Given the description of an element on the screen output the (x, y) to click on. 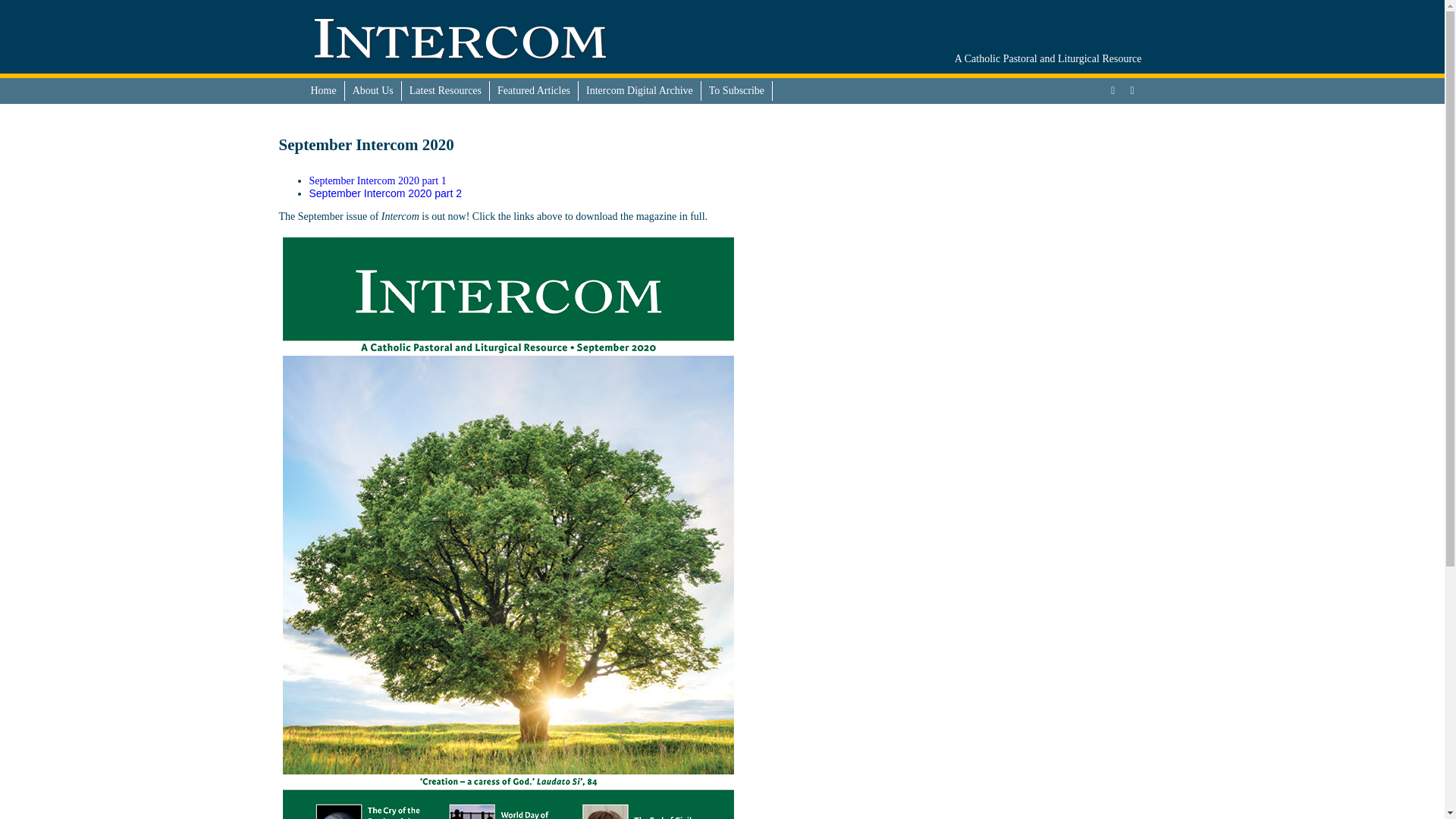
September Intercom 2020 part 1 (377, 180)
Featured Articles (533, 90)
To Subscribe (737, 90)
Latest Resources (445, 90)
Home (323, 90)
Intercom Digital Archive (639, 90)
September Intercom 2020 part 2 (385, 193)
About Us (373, 90)
